Given the description of an element on the screen output the (x, y) to click on. 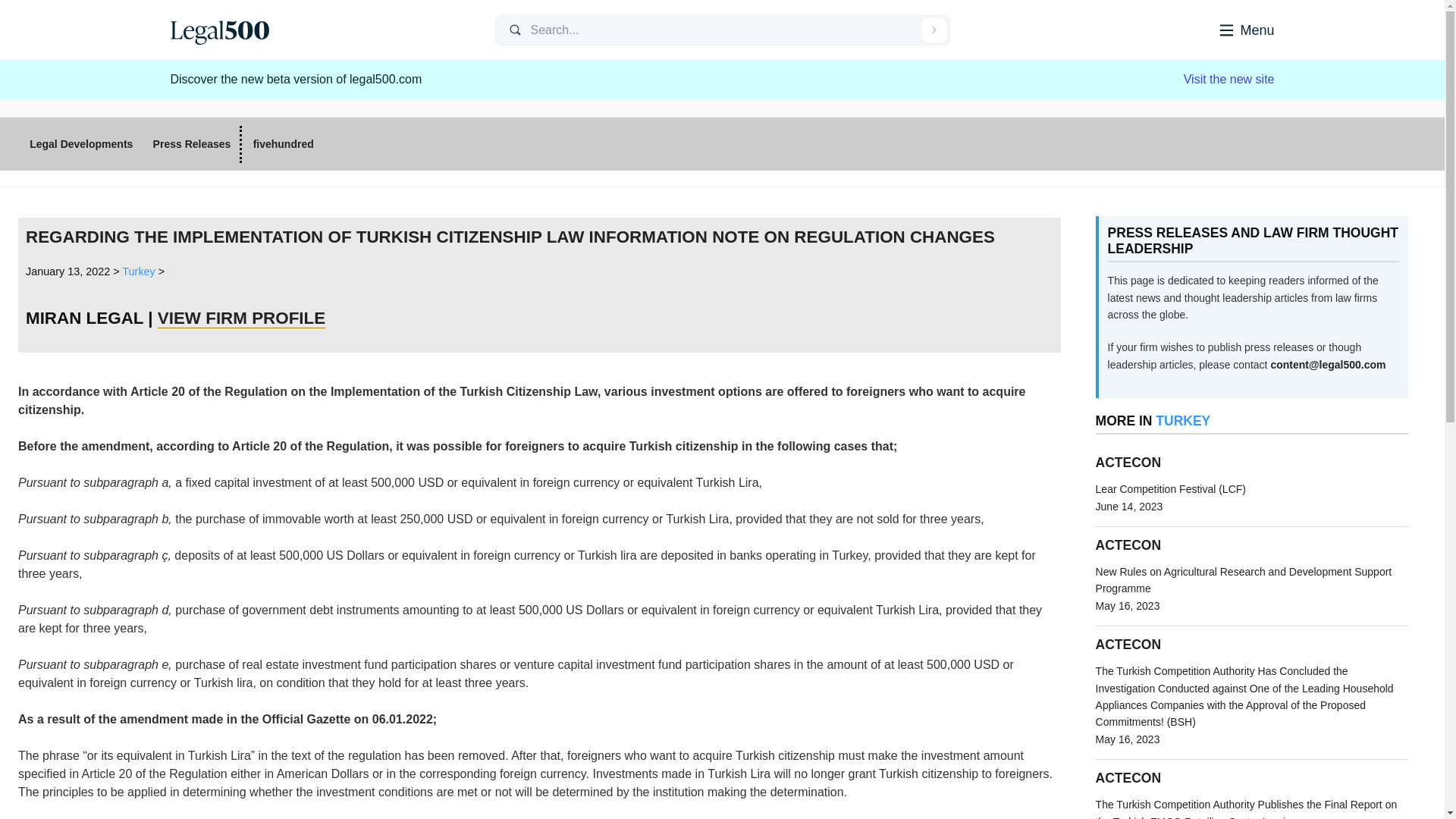
Visit the new site (933, 30)
Skip to content (1229, 79)
Menu (218, 30)
Home (1225, 29)
search (320, 30)
on (934, 30)
